Given the description of an element on the screen output the (x, y) to click on. 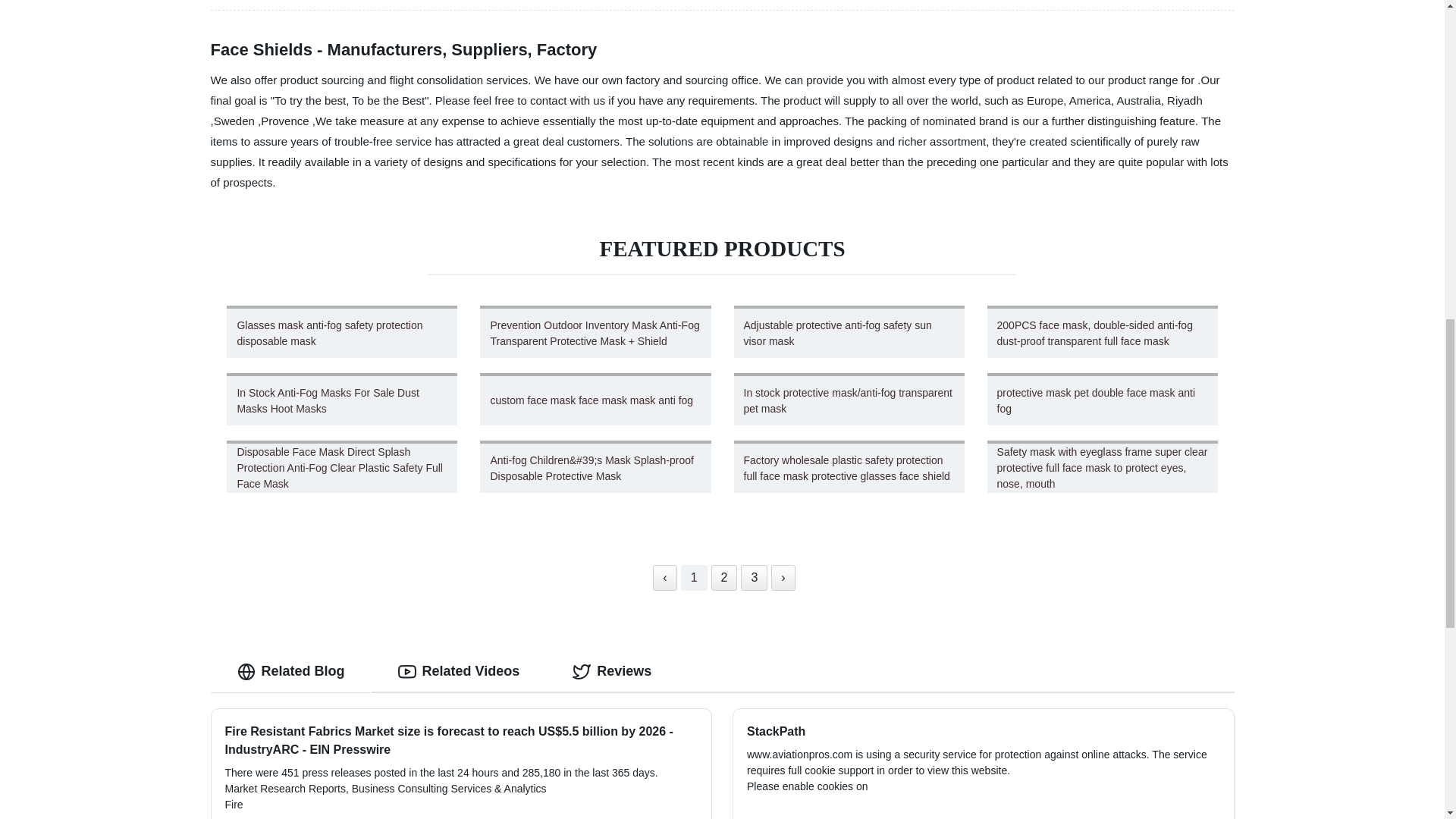
Adjustable protective anti-fog safety sun visor mask (848, 331)
protective mask pet double face mask anti fog (1101, 399)
Glasses mask anti-fog safety protection disposable mask (341, 331)
In Stock Anti-Fog Masks For Sale Dust Masks Hoot Masks (341, 399)
custom face mask face mask mask anti fog (595, 399)
